Given the description of an element on the screen output the (x, y) to click on. 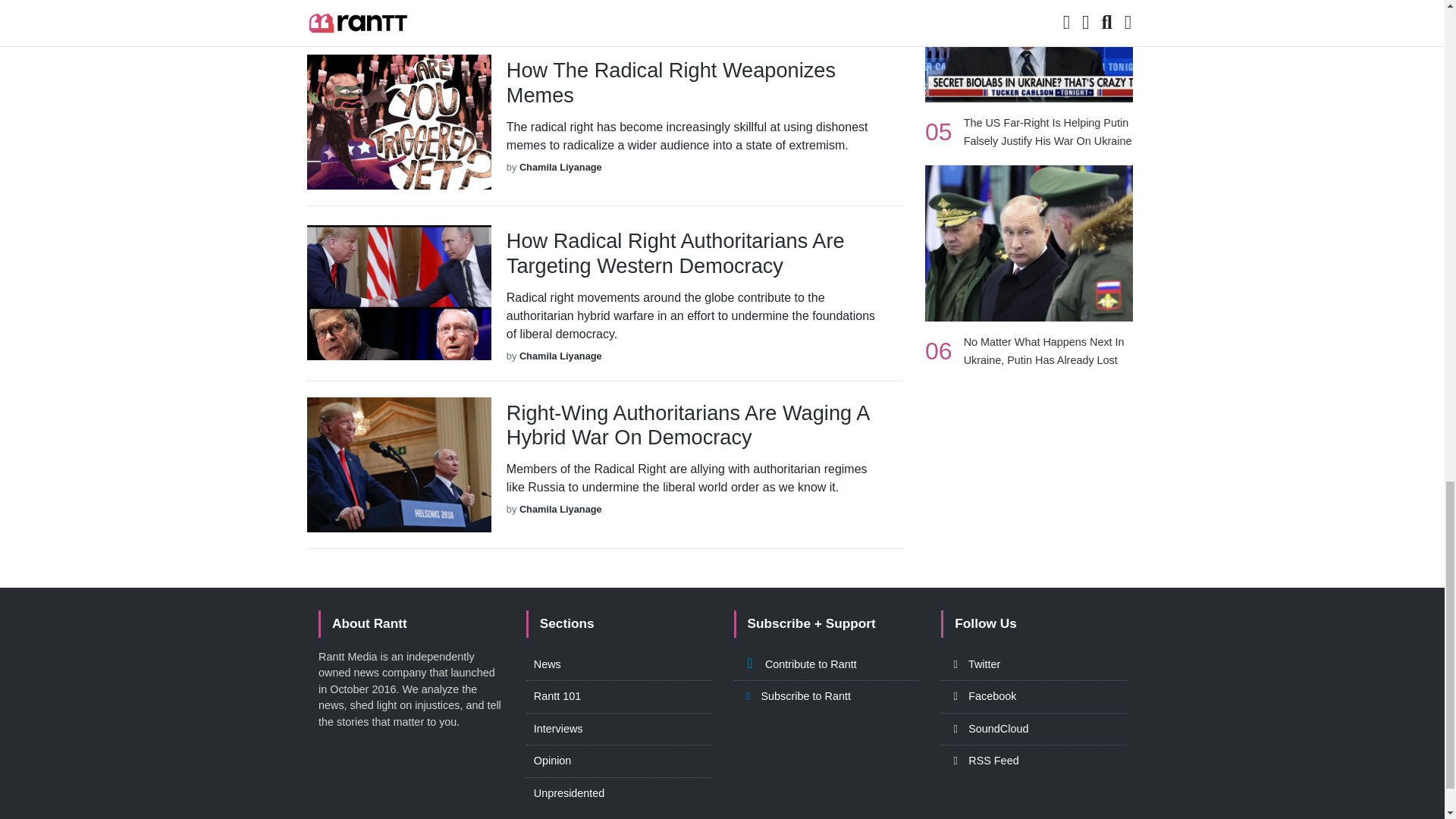
How The Radical Right Weaponizes Memes (692, 82)
Chamila Liyanage (560, 509)
Chamila Liyanage (560, 12)
Chamila Liyanage (560, 355)
Chamila Liyanage (560, 166)
